Given the description of an element on the screen output the (x, y) to click on. 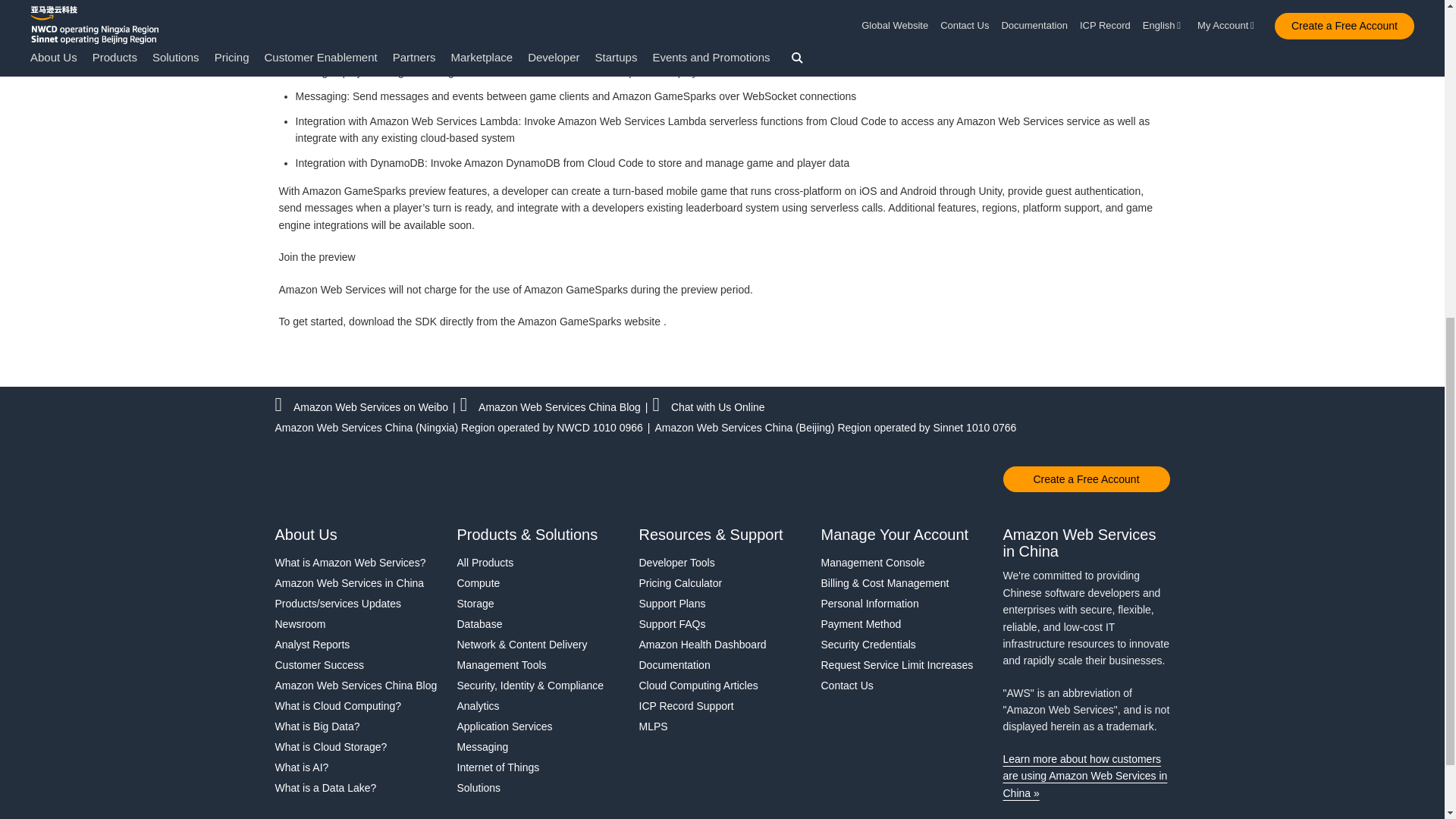
Analyst Reports (358, 644)
Newsroom (358, 623)
Amazon Web Services in China (358, 582)
Amazon Web Services China Blog (358, 685)
What is AI? (358, 767)
What is Big Data? (358, 726)
What is Cloud Computing? (358, 705)
Customer Success (358, 664)
What is a Data Lake? (358, 787)
What's New (358, 603)
